Given the description of an element on the screen output the (x, y) to click on. 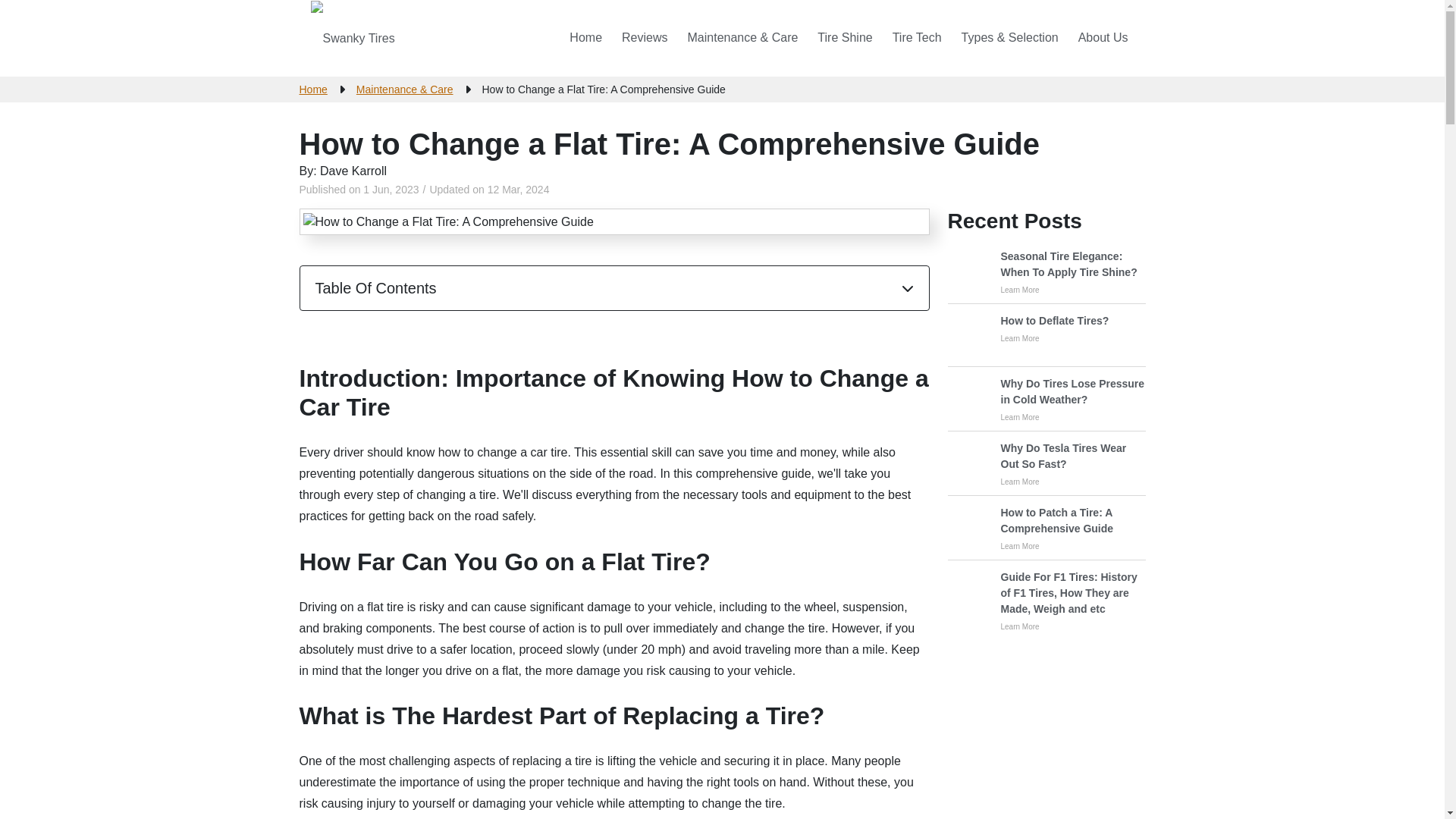
Why Do Tesla Tires Wear Out So Fast? (1046, 463)
Why Do Tires Lose Pressure in Cold Weather? (1073, 417)
Home (585, 37)
Home (312, 89)
About Us (1102, 37)
How to Deflate Tires? (1055, 337)
Tire Tech (916, 37)
Home (585, 37)
Swanky Tires (352, 38)
How to Deflate Tires? (1055, 320)
About Us (1102, 37)
Why Do Tires Lose Pressure in Cold Weather? (1046, 399)
Tire Shine (843, 37)
Tire Tech (916, 37)
